Given the description of an element on the screen output the (x, y) to click on. 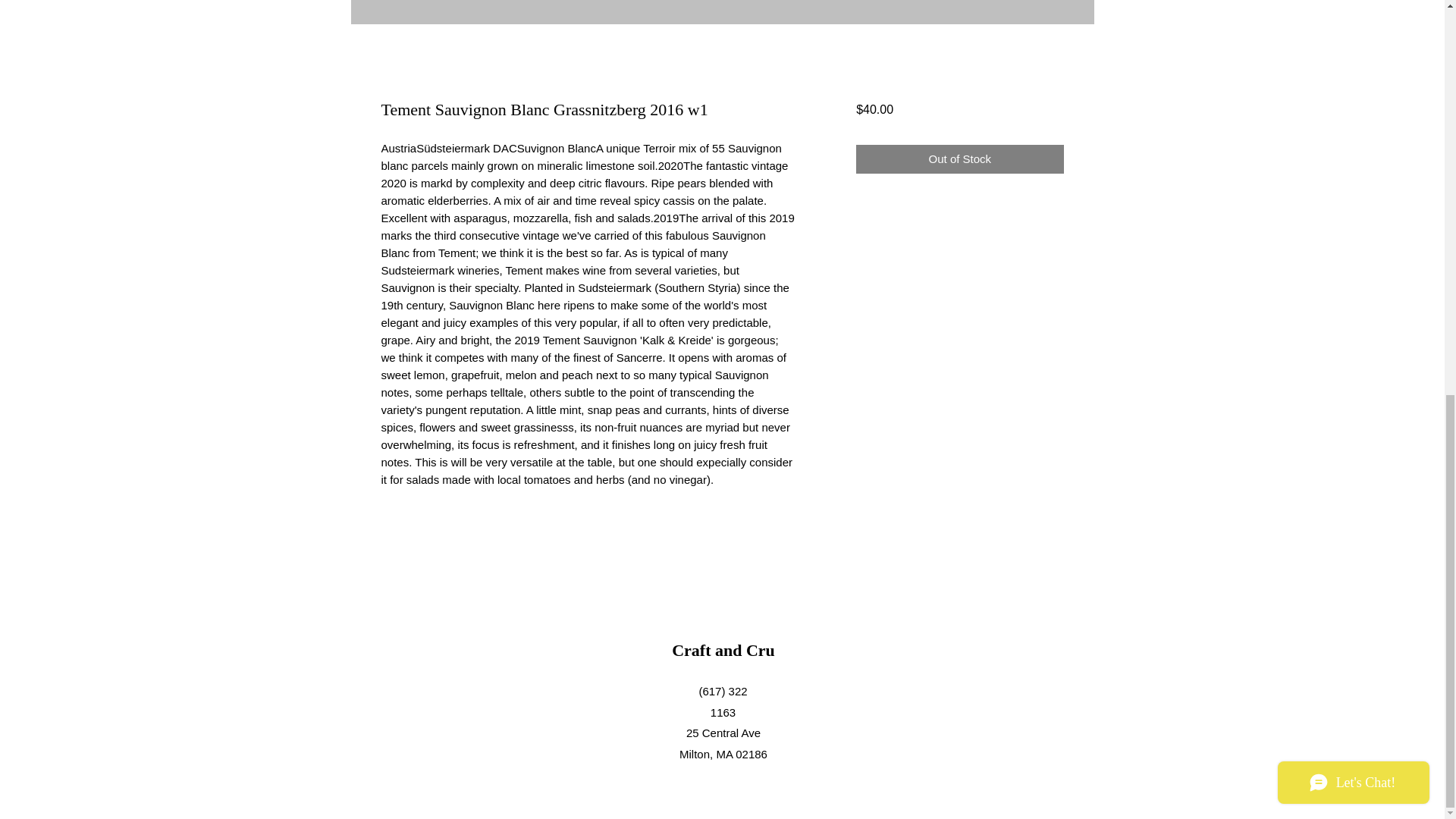
Out of Stock (959, 159)
